Given the description of an element on the screen output the (x, y) to click on. 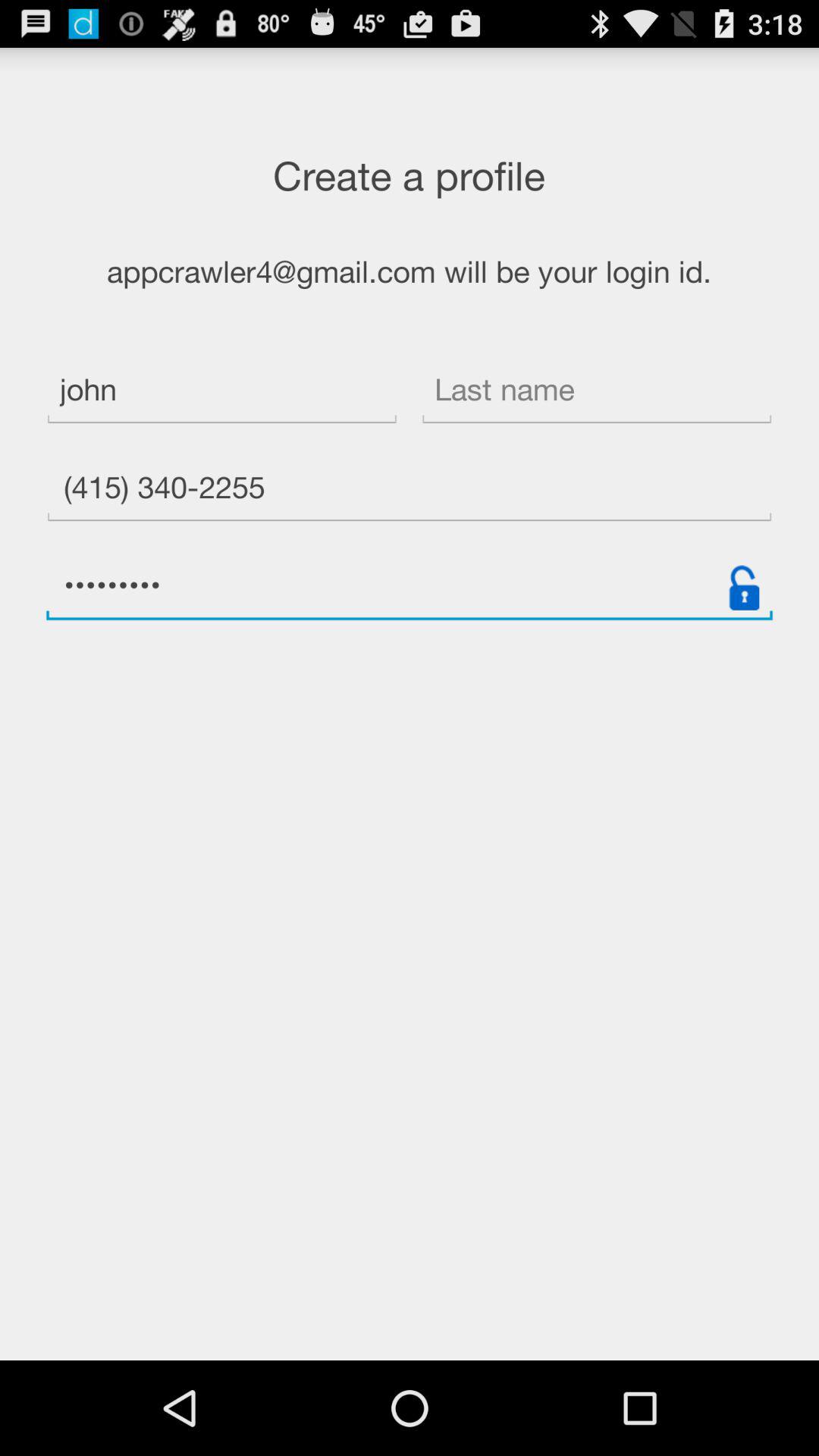
turn on the item below the (415) 340-2255 (744, 587)
